Given the description of an element on the screen output the (x, y) to click on. 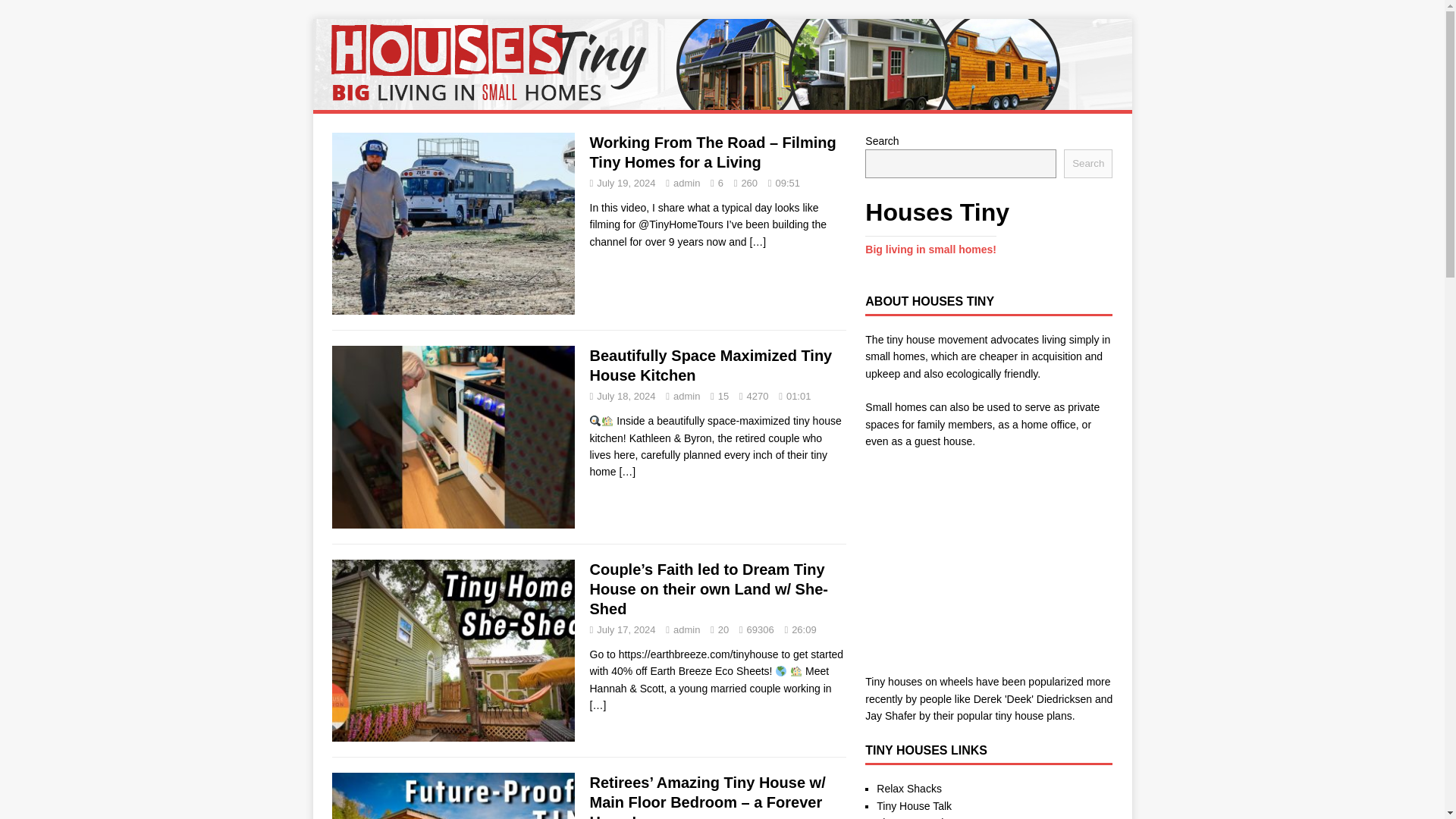
Beautifully Space Maximized Tiny House Kitchen (626, 471)
20 (723, 629)
Houses Tiny (722, 101)
admin (686, 396)
15 (723, 396)
admin (686, 183)
Advertisement (988, 544)
admin (686, 629)
Beautifully Space Maximized Tiny House Kitchen (710, 365)
